Given the description of an element on the screen output the (x, y) to click on. 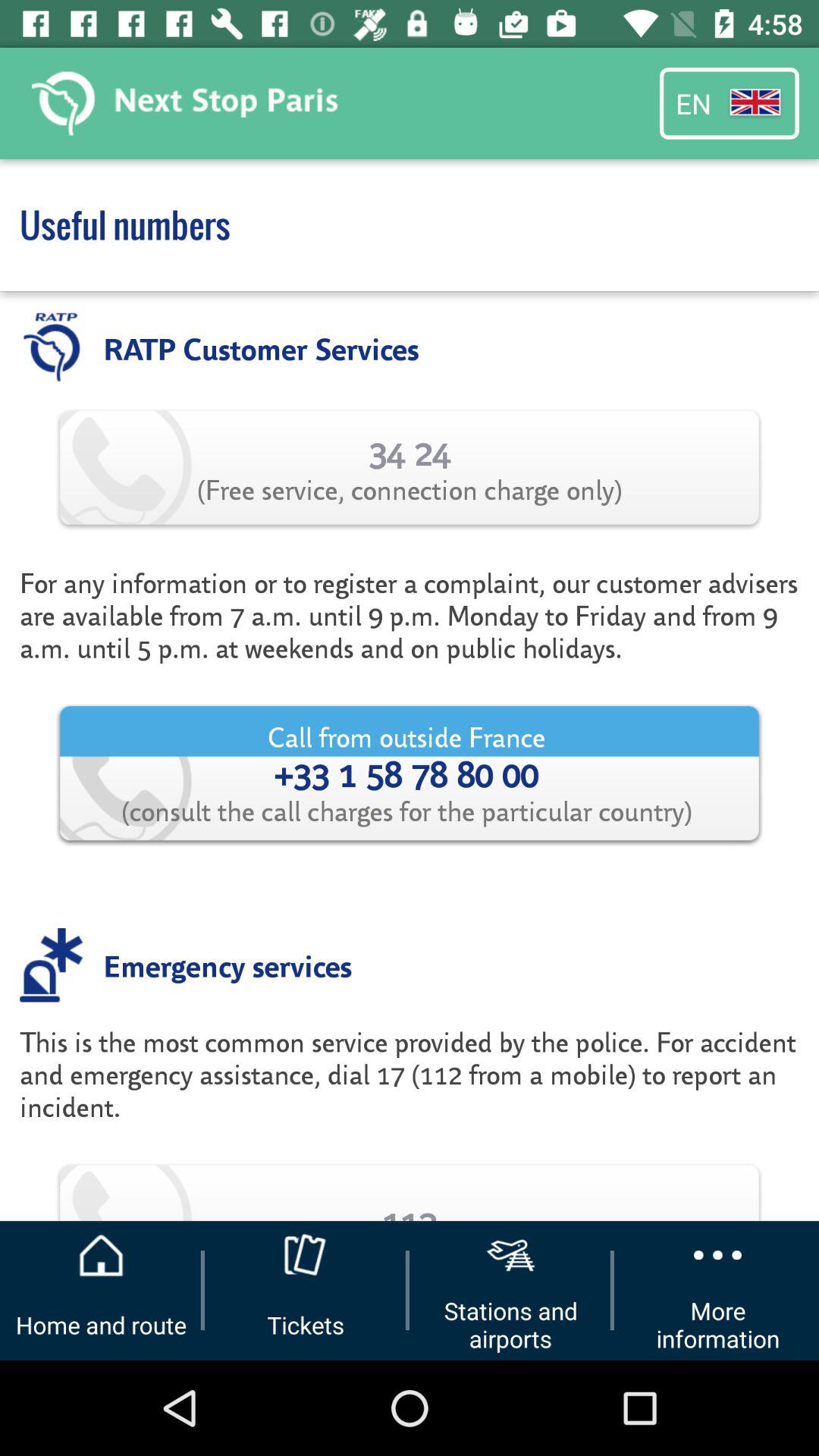
select app above call from outside icon (409, 615)
